Given the description of an element on the screen output the (x, y) to click on. 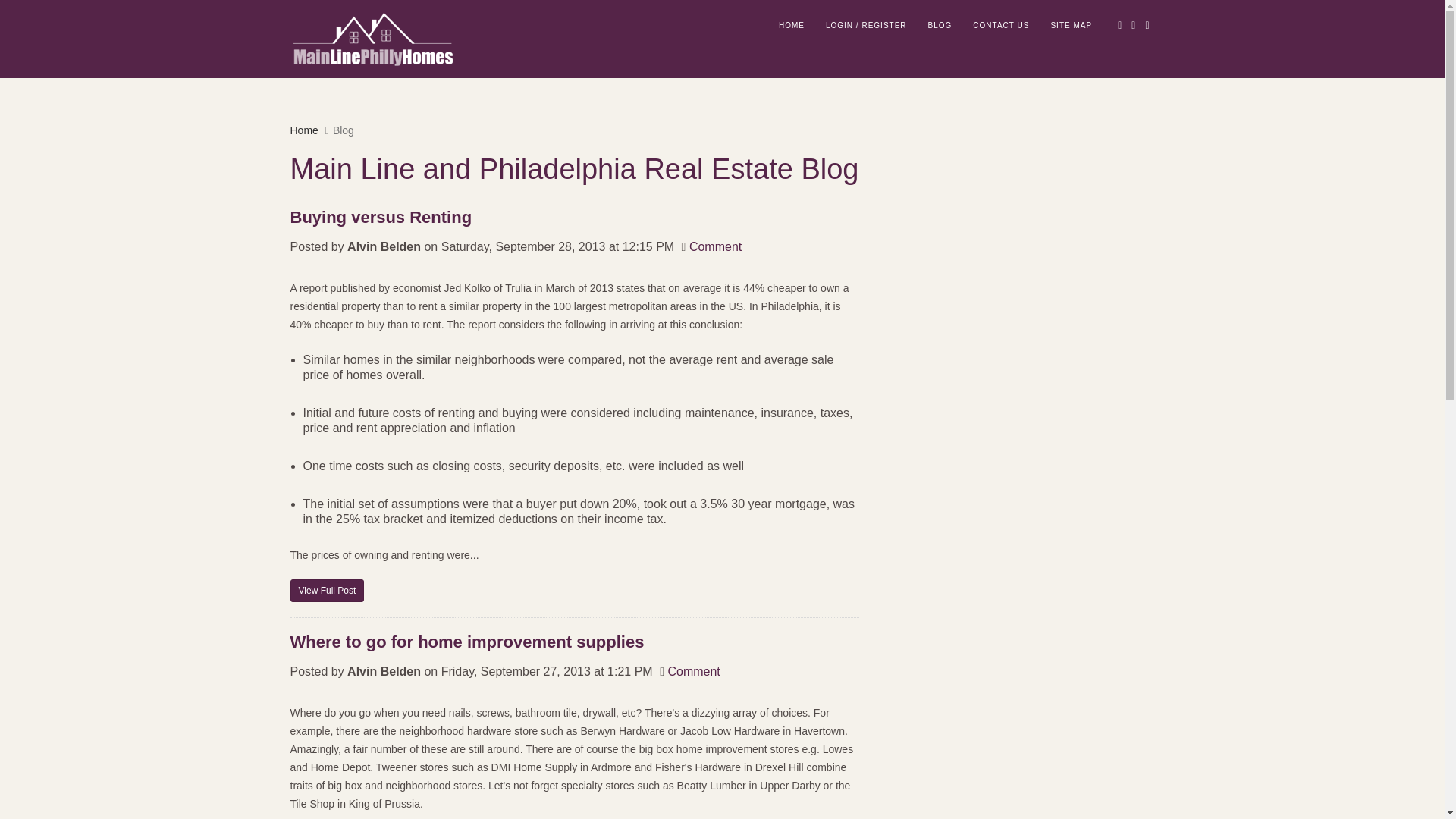
SITE MAP (1070, 25)
CONTACT US (1000, 25)
BLOG (940, 25)
Buying versus Renting (574, 217)
REGISTER (883, 25)
Where to go for home improvement supplies (574, 642)
LOGIN (843, 25)
HOME (791, 25)
Buying versus Renting (326, 590)
